Given the description of an element on the screen output the (x, y) to click on. 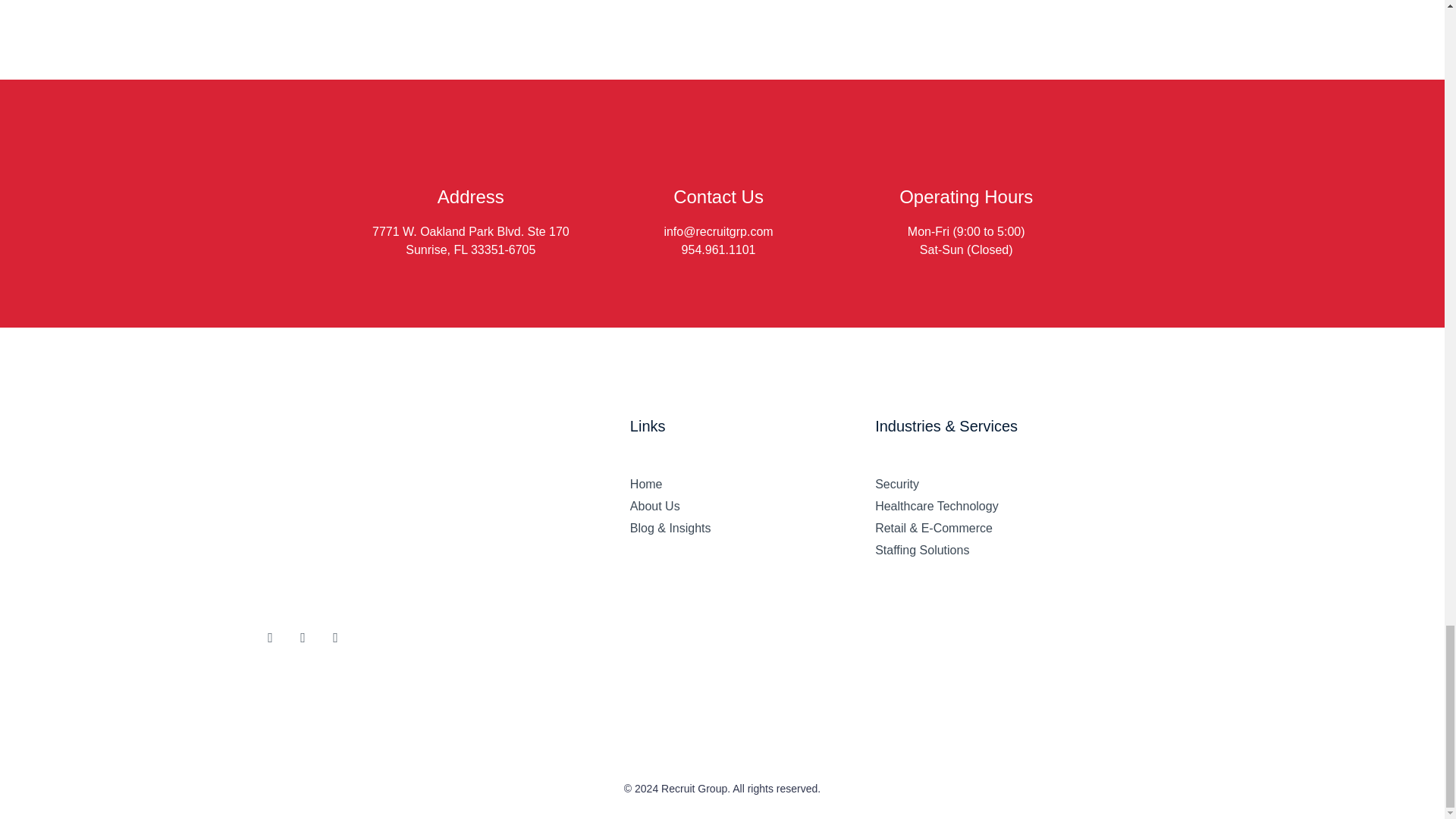
Home (752, 484)
About Us (752, 506)
Staffing Solutions (1027, 550)
Healthcare Technology (1027, 506)
Security (1027, 484)
